Given the description of an element on the screen output the (x, y) to click on. 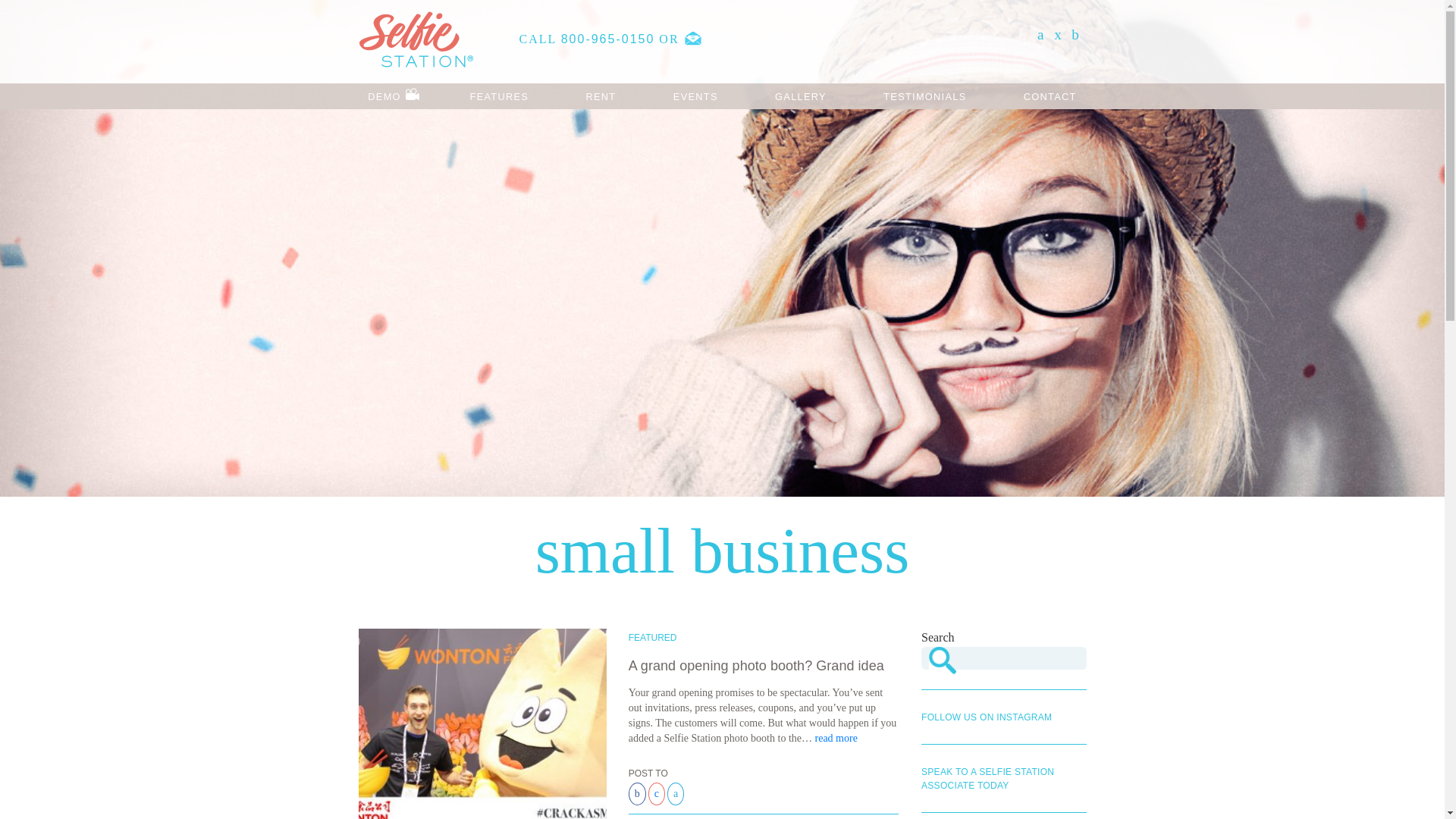
RENT (601, 95)
A grand opening photo booth? Grand idea (482, 732)
Search (942, 660)
1-800-965-0150 (607, 38)
DEMO (390, 95)
Read more of A grand opening photo booth? Grand idea (835, 737)
A grand opening photo booth? Grand idea (755, 665)
GALLERY (800, 95)
EMAIL (692, 37)
FEATURES (499, 95)
